Given the description of an element on the screen output the (x, y) to click on. 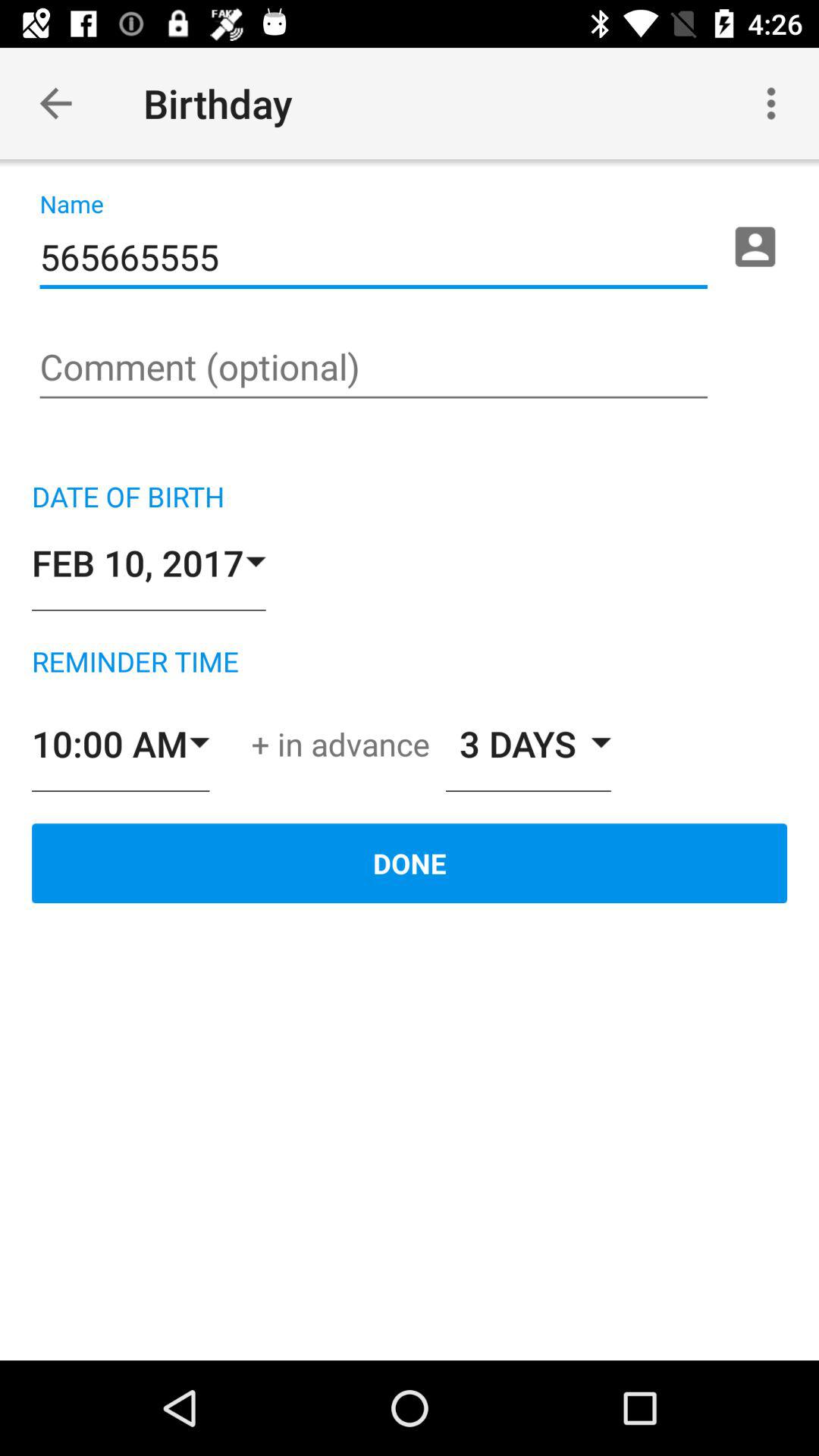
go to contacts (755, 246)
